Given the description of an element on the screen output the (x, y) to click on. 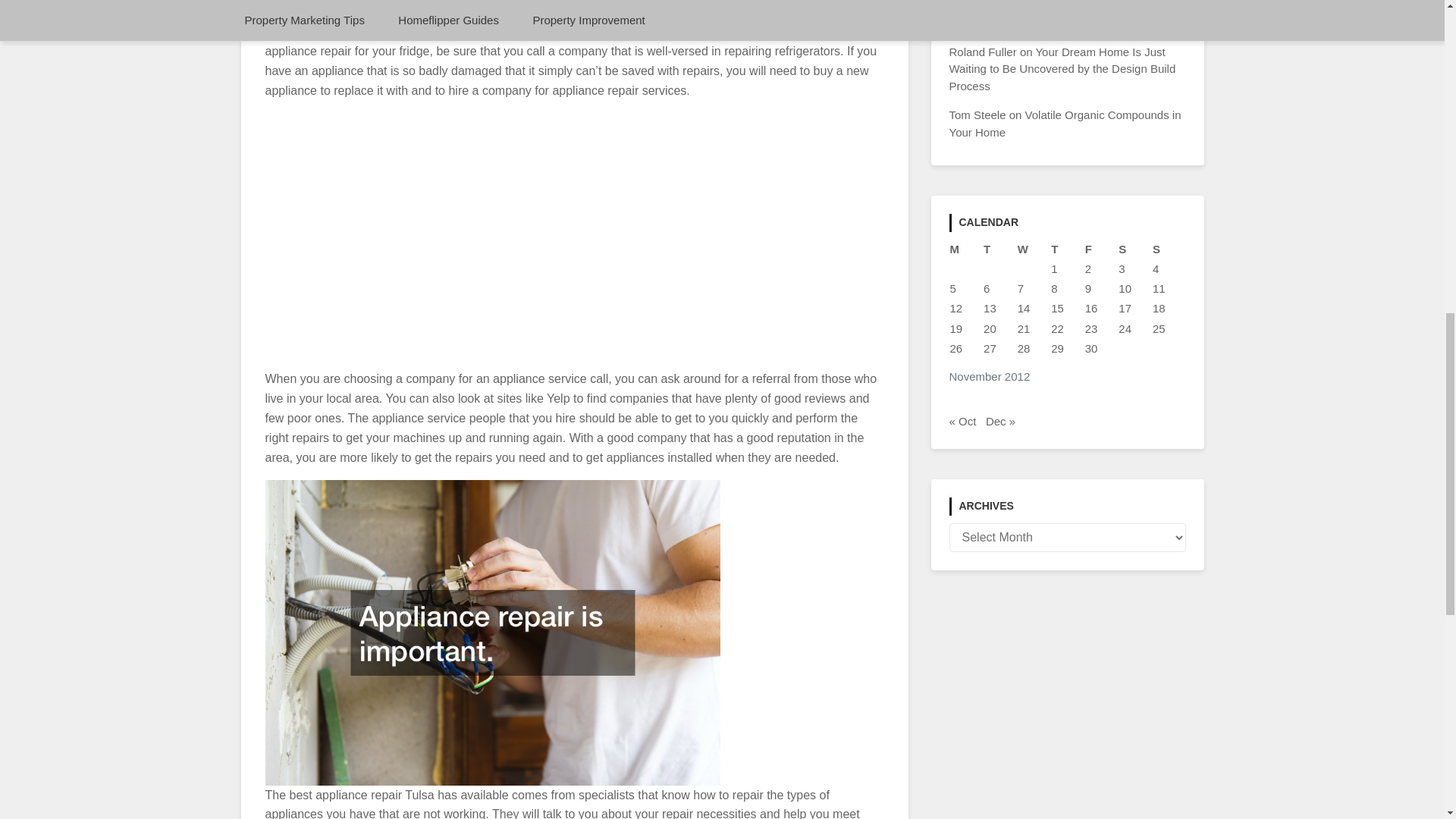
Volatile Organic Compounds in Your Home (1064, 123)
Monday (966, 249)
Thursday (1066, 249)
Wednesday (1033, 249)
Friday (1101, 249)
to do appliance service (565, 31)
Tuesday (999, 249)
Sunday (1168, 249)
Saturday (1134, 249)
